Given the description of an element on the screen output the (x, y) to click on. 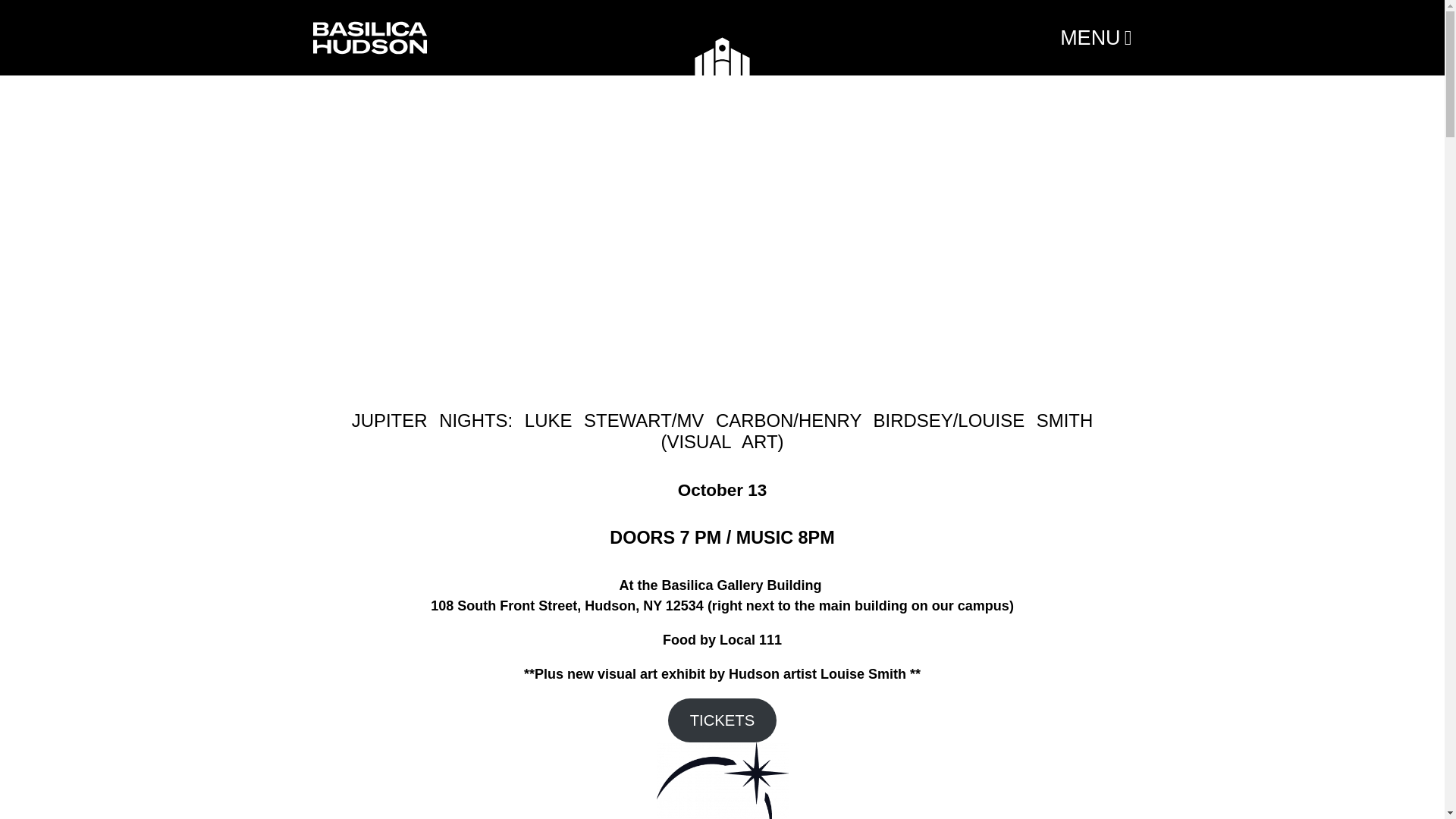
Subscribe to our Newsletter (692, 428)
TICKETS (722, 720)
